Given the description of an element on the screen output the (x, y) to click on. 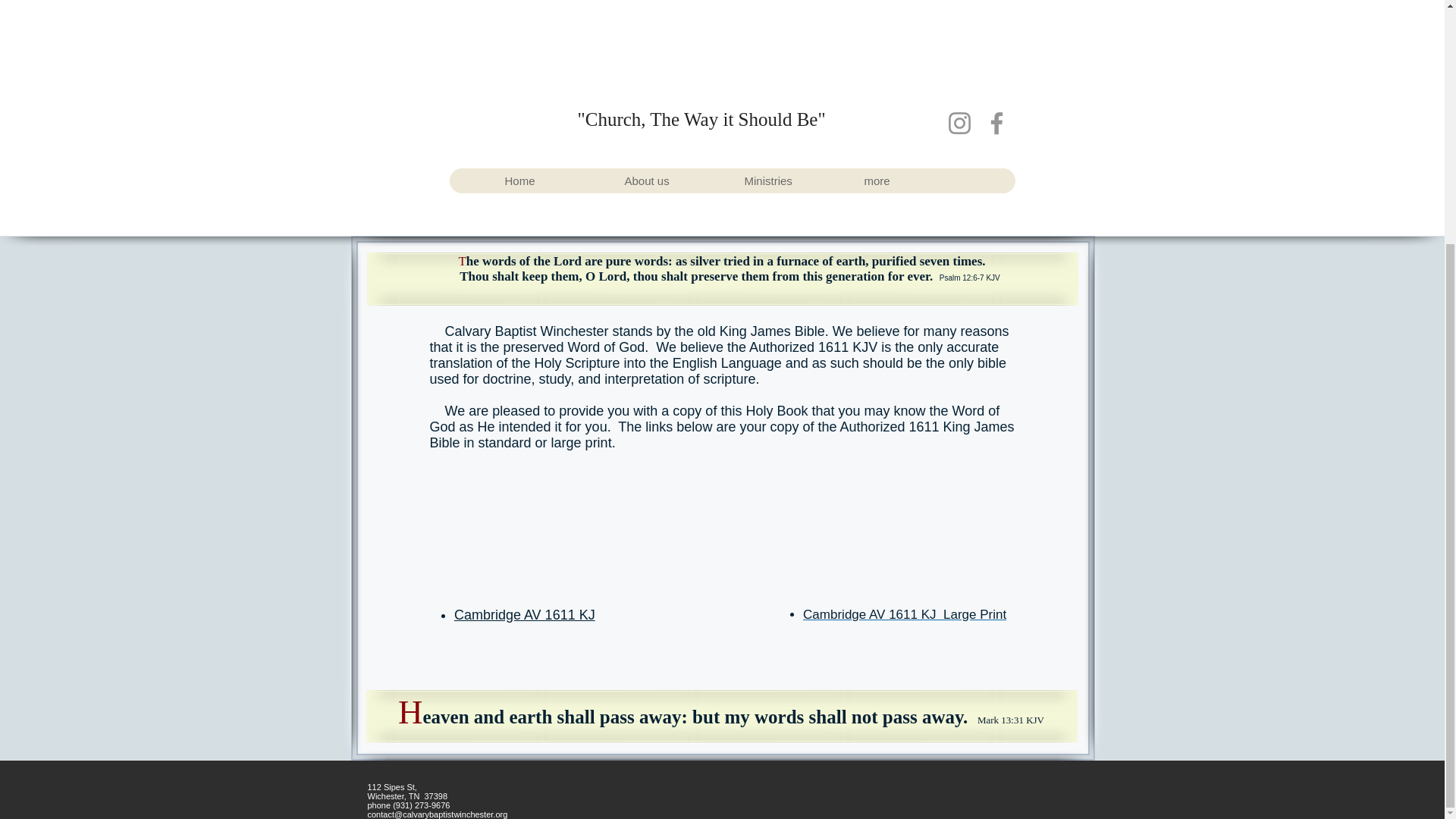
Ministries (791, 180)
Cambridge AV 1611 KJ  Large Print (904, 614)
Home (552, 180)
Cambridge AV 1611 KJ (524, 614)
